Given the description of an element on the screen output the (x, y) to click on. 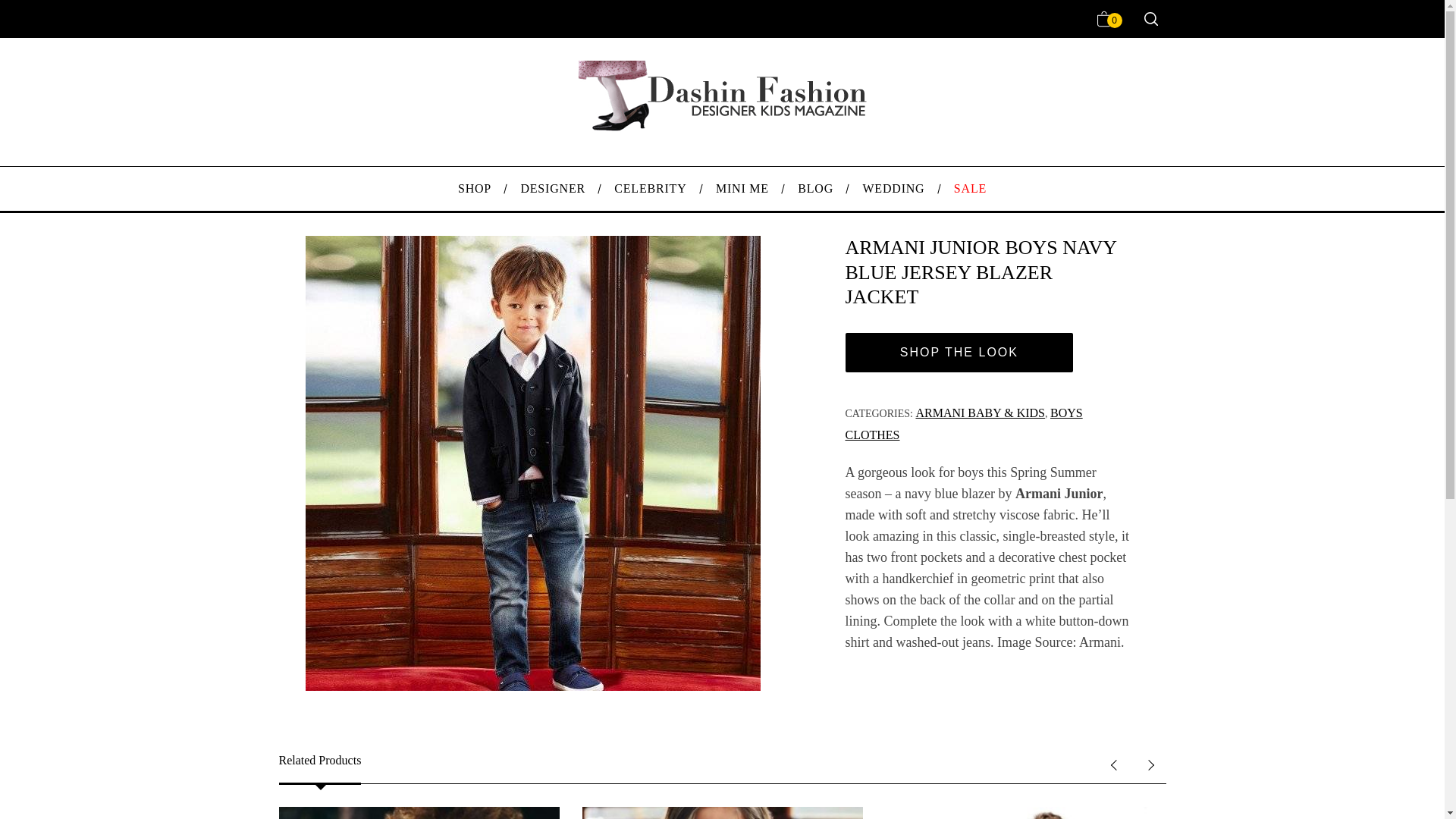
CELEBRITY (650, 188)
SALE (970, 188)
DESIGNER (552, 188)
WEDDING (893, 188)
BLOG (815, 188)
MINI ME (742, 188)
